Given the description of an element on the screen output the (x, y) to click on. 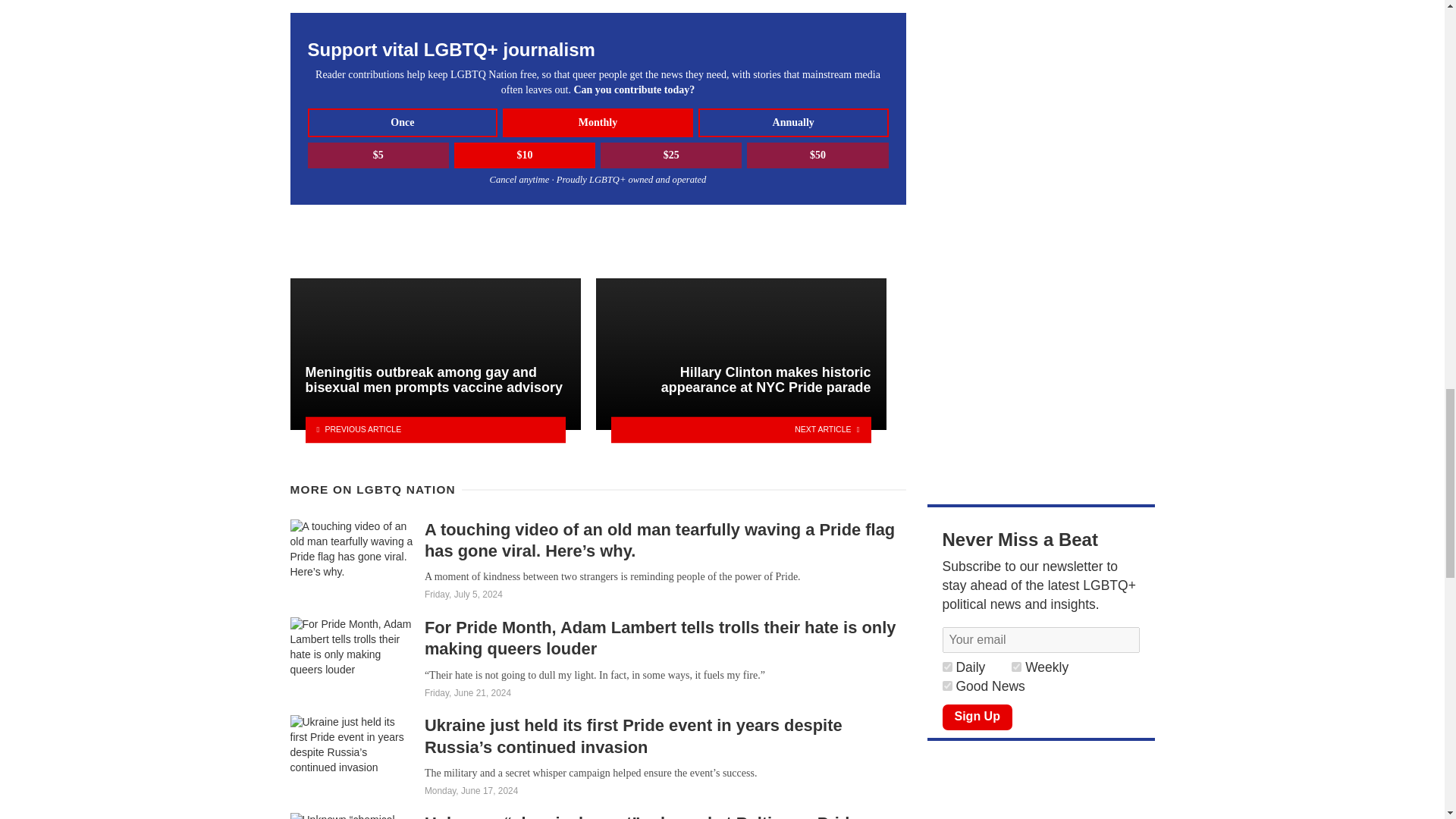
1920884 (1016, 666)
1920883 (947, 685)
1920885 (947, 666)
Sign Up (976, 717)
